Given the description of an element on the screen output the (x, y) to click on. 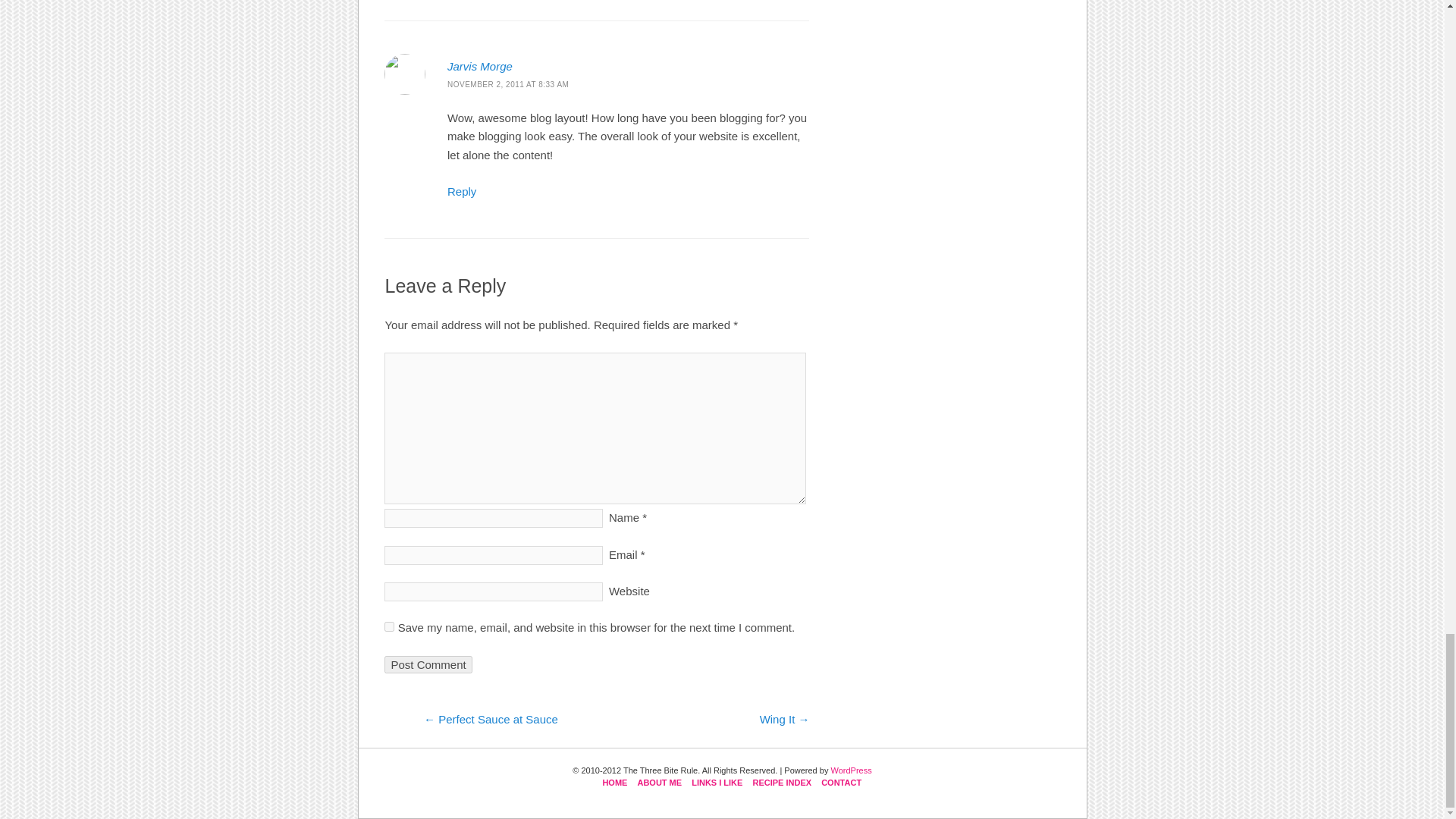
Reply (461, 191)
yes (389, 626)
Post Comment (427, 664)
NOVEMBER 2, 2011 AT 8:33 AM (507, 84)
Post Comment (427, 664)
HOME (614, 782)
Jarvis Morge (479, 65)
WordPress (849, 769)
